Given the description of an element on the screen output the (x, y) to click on. 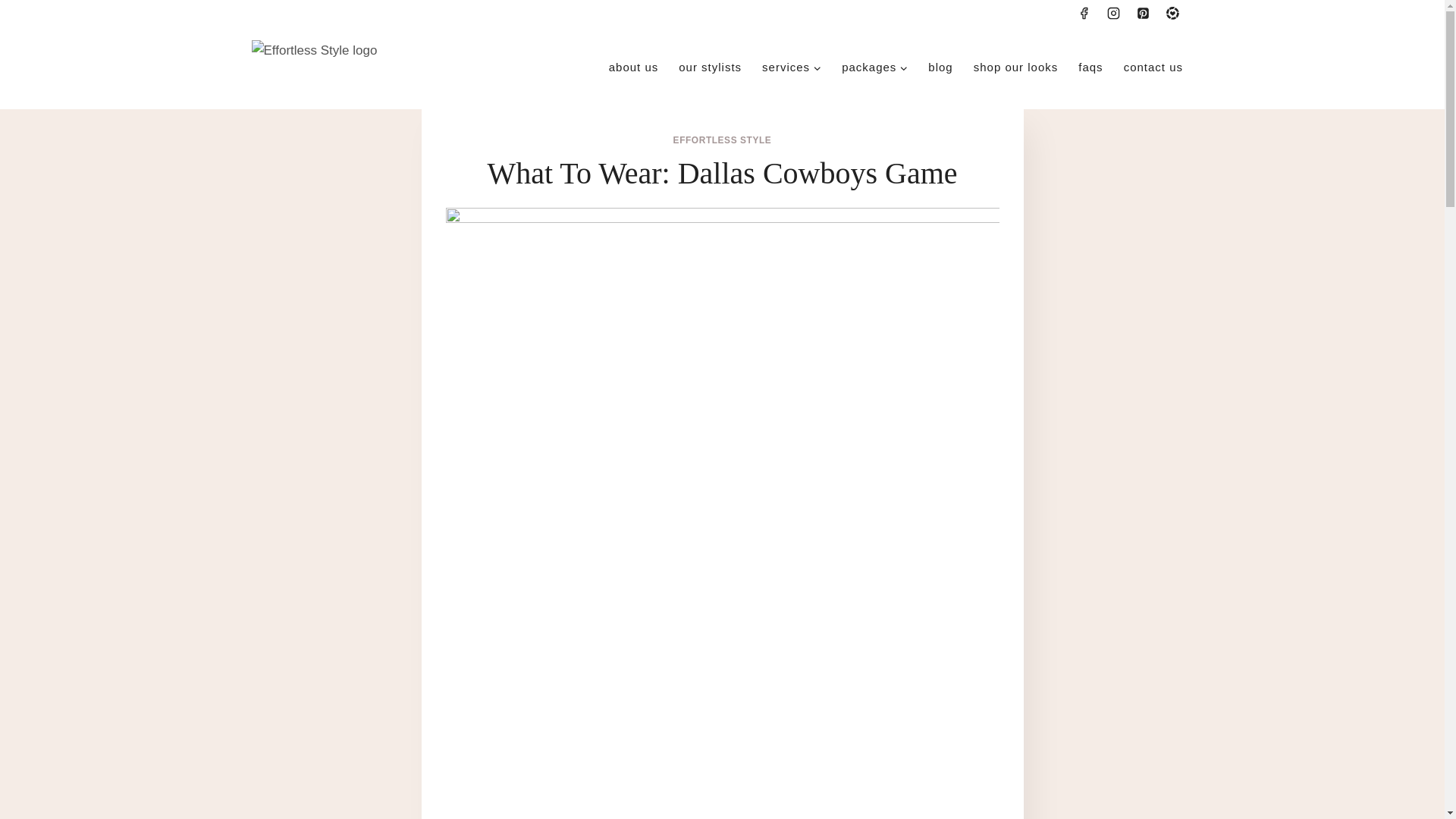
shop our looks (1015, 67)
contact us (1152, 67)
blog (940, 67)
packages (874, 67)
about us (633, 67)
EFFORTLESS STYLE (721, 140)
services (791, 67)
faqs (1090, 67)
our stylists (710, 67)
